Given the description of an element on the screen output the (x, y) to click on. 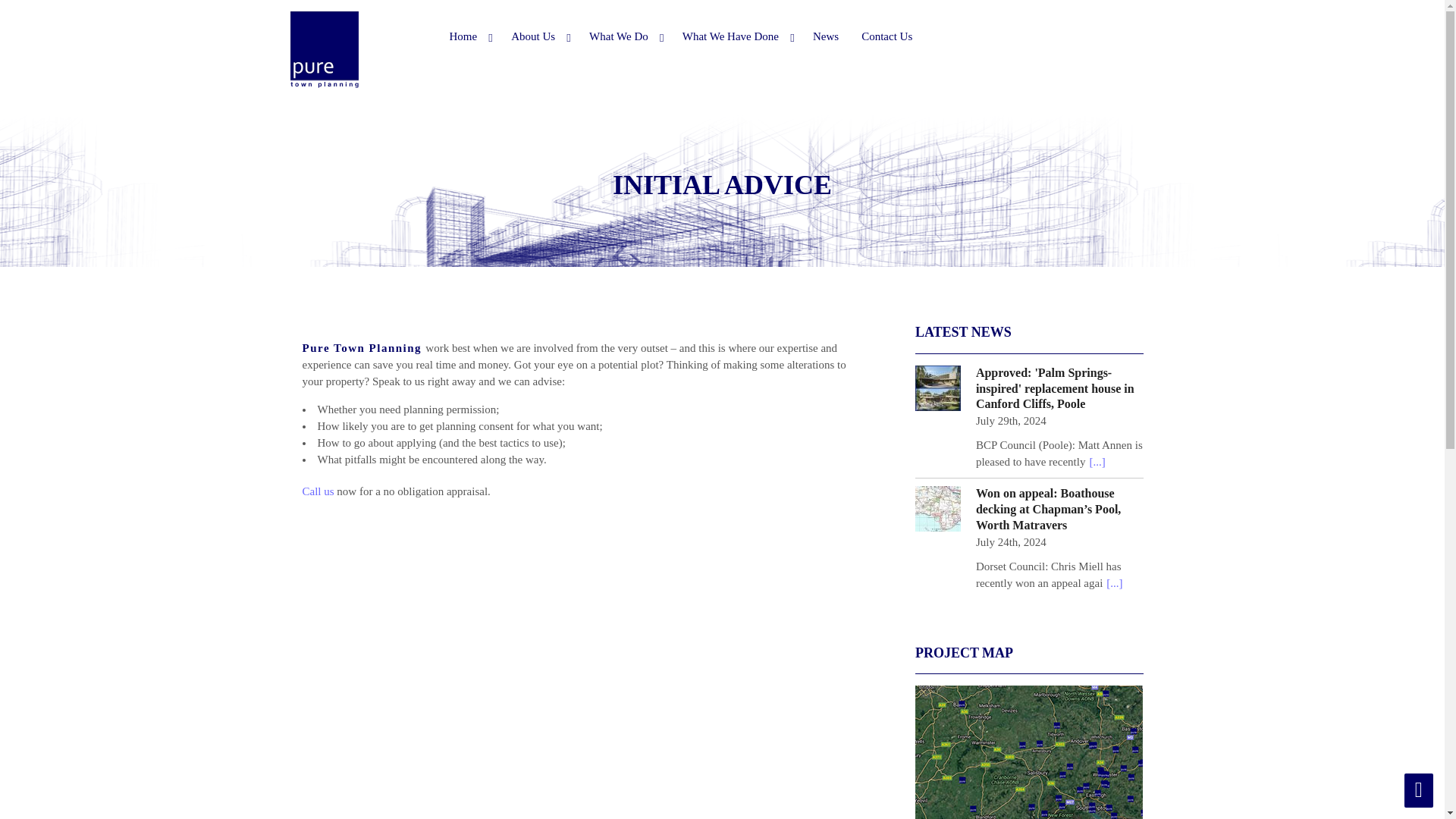
What We Have Done (736, 36)
Call us (317, 491)
What We Do (624, 36)
News (826, 36)
Contact Us (886, 36)
Home (469, 36)
About Us (538, 36)
Contact Us (317, 491)
